Given the description of an element on the screen output the (x, y) to click on. 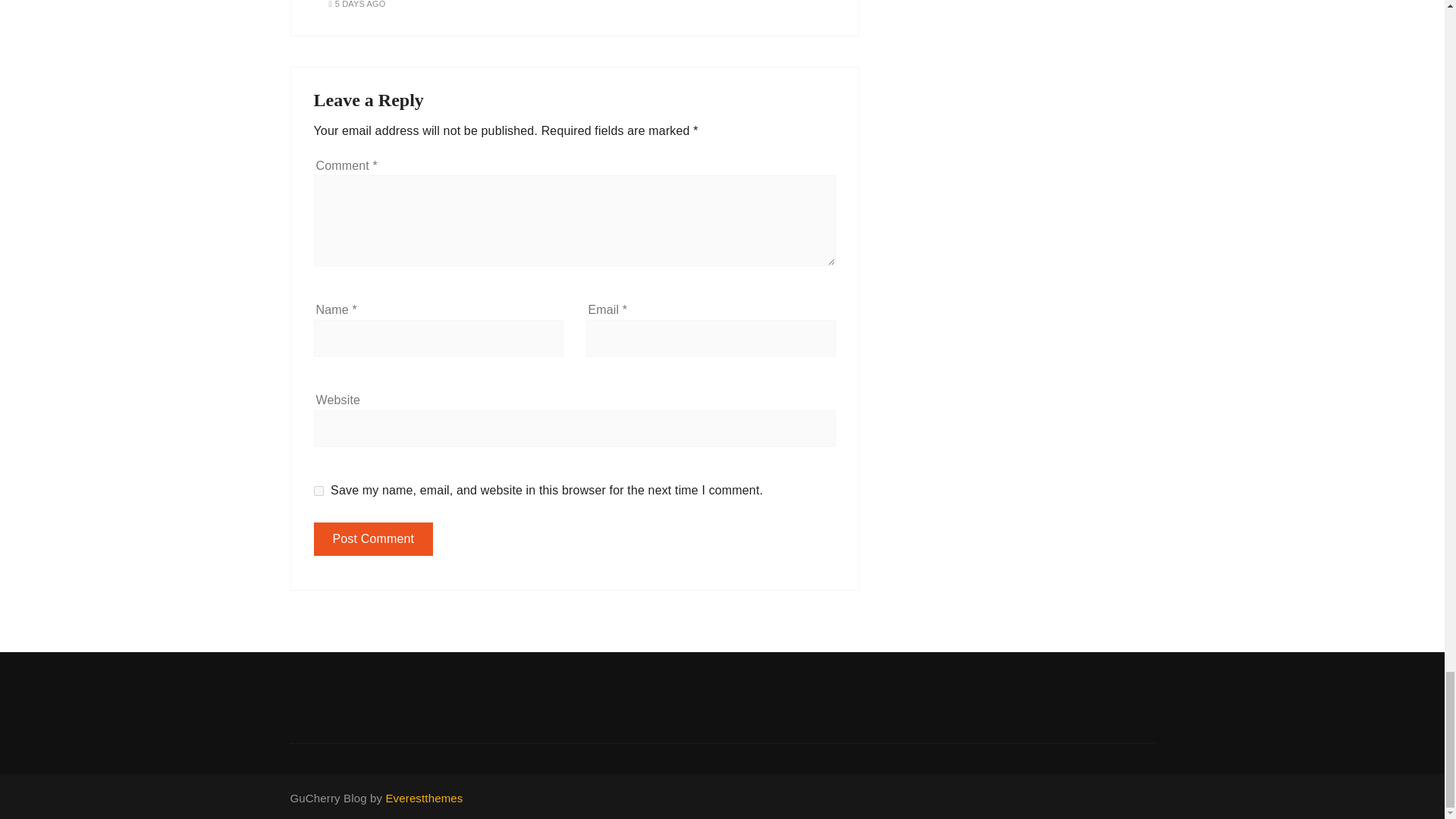
Post Comment (373, 539)
Post Comment (373, 539)
yes (318, 491)
